Given the description of an element on the screen output the (x, y) to click on. 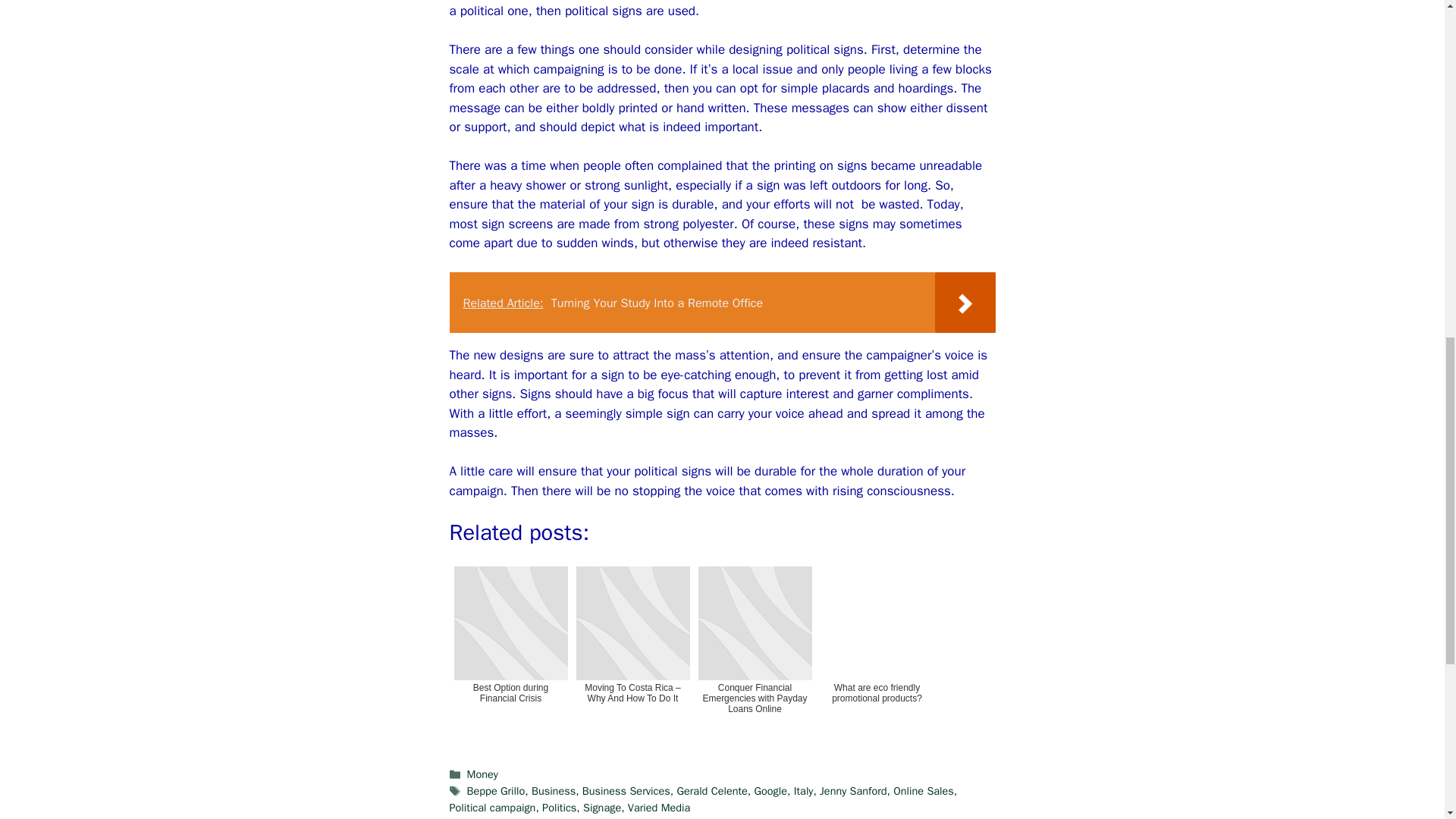
Italy (803, 790)
Politics (558, 807)
Gerald Celente (711, 790)
Related Article:  Turning Your Study Into a Remote Office (721, 301)
Political campaign (491, 807)
Jenny Sanford (852, 790)
Business Services (625, 790)
Online Sales (923, 790)
Beppe Grillo (496, 790)
Varied Media (658, 807)
Business (553, 790)
Signage (602, 807)
Money (482, 774)
Scroll back to top (1406, 720)
Google (770, 790)
